Given the description of an element on the screen output the (x, y) to click on. 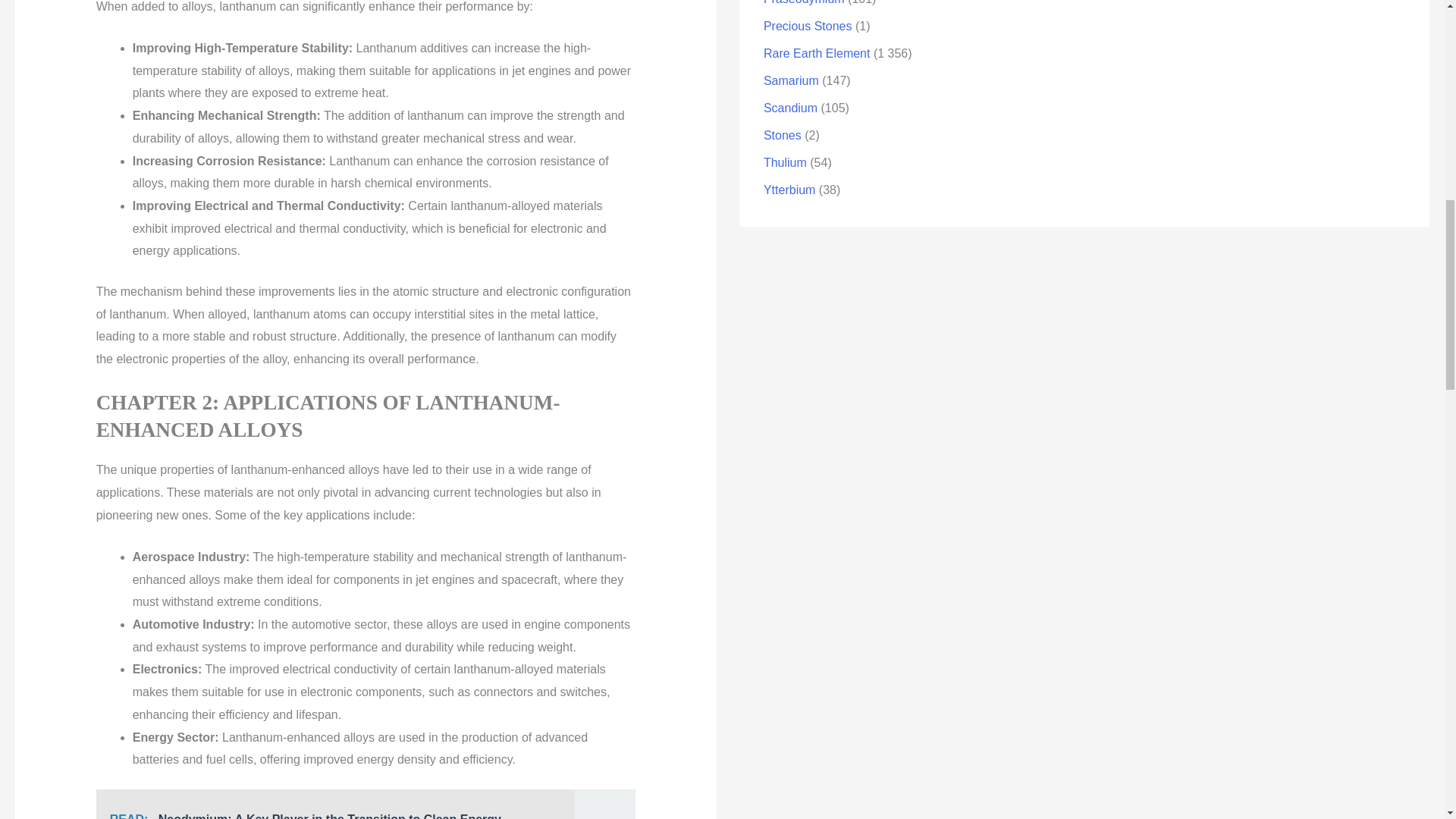
Praseodymium (803, 2)
Precious Stones (806, 25)
